Given the description of an element on the screen output the (x, y) to click on. 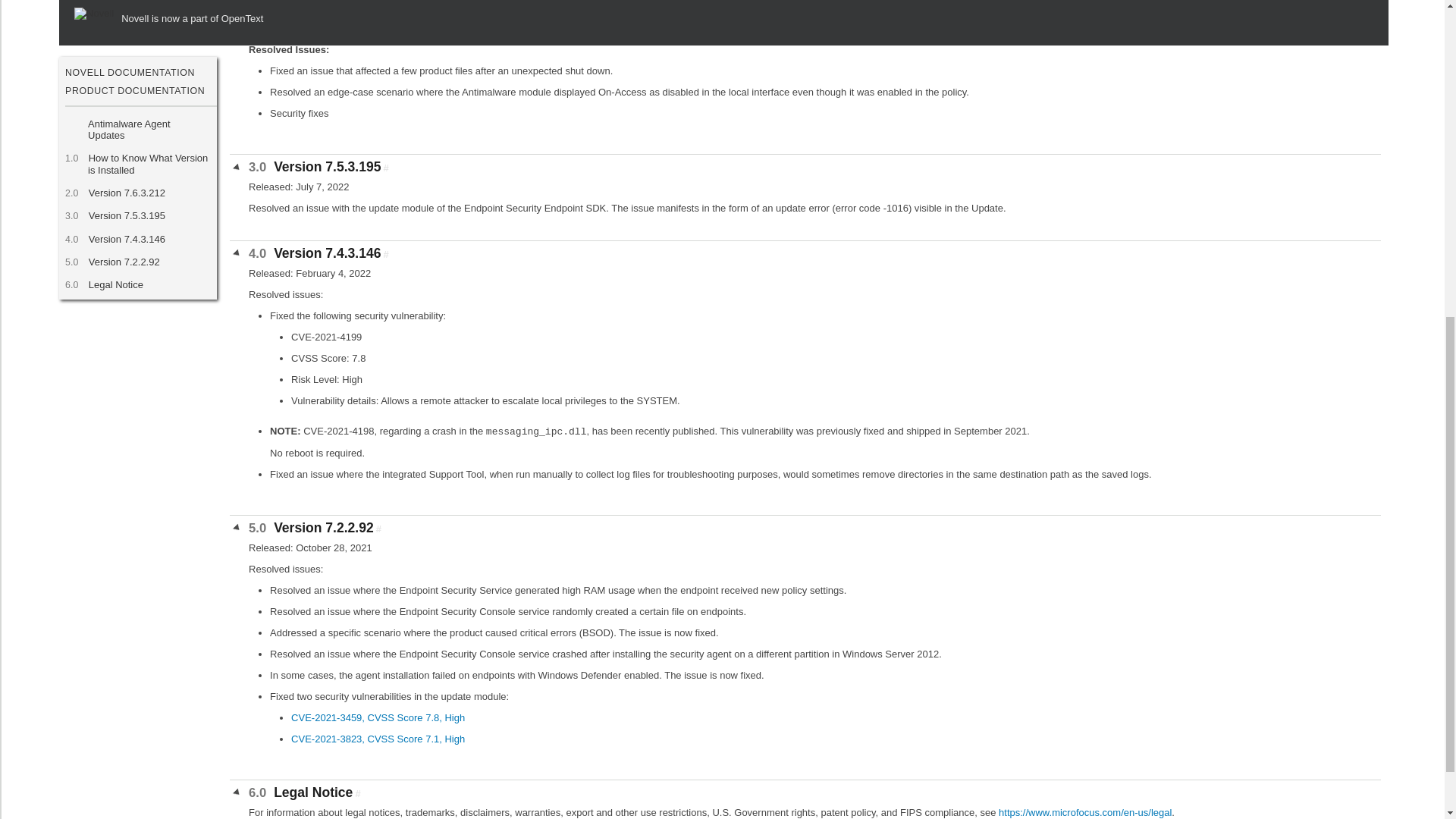
CVE-2021-3823, CVSS Score 7.1, High (377, 738)
CVE-2021-3459, CVSS Score 7.8, High (377, 717)
